Given the description of an element on the screen output the (x, y) to click on. 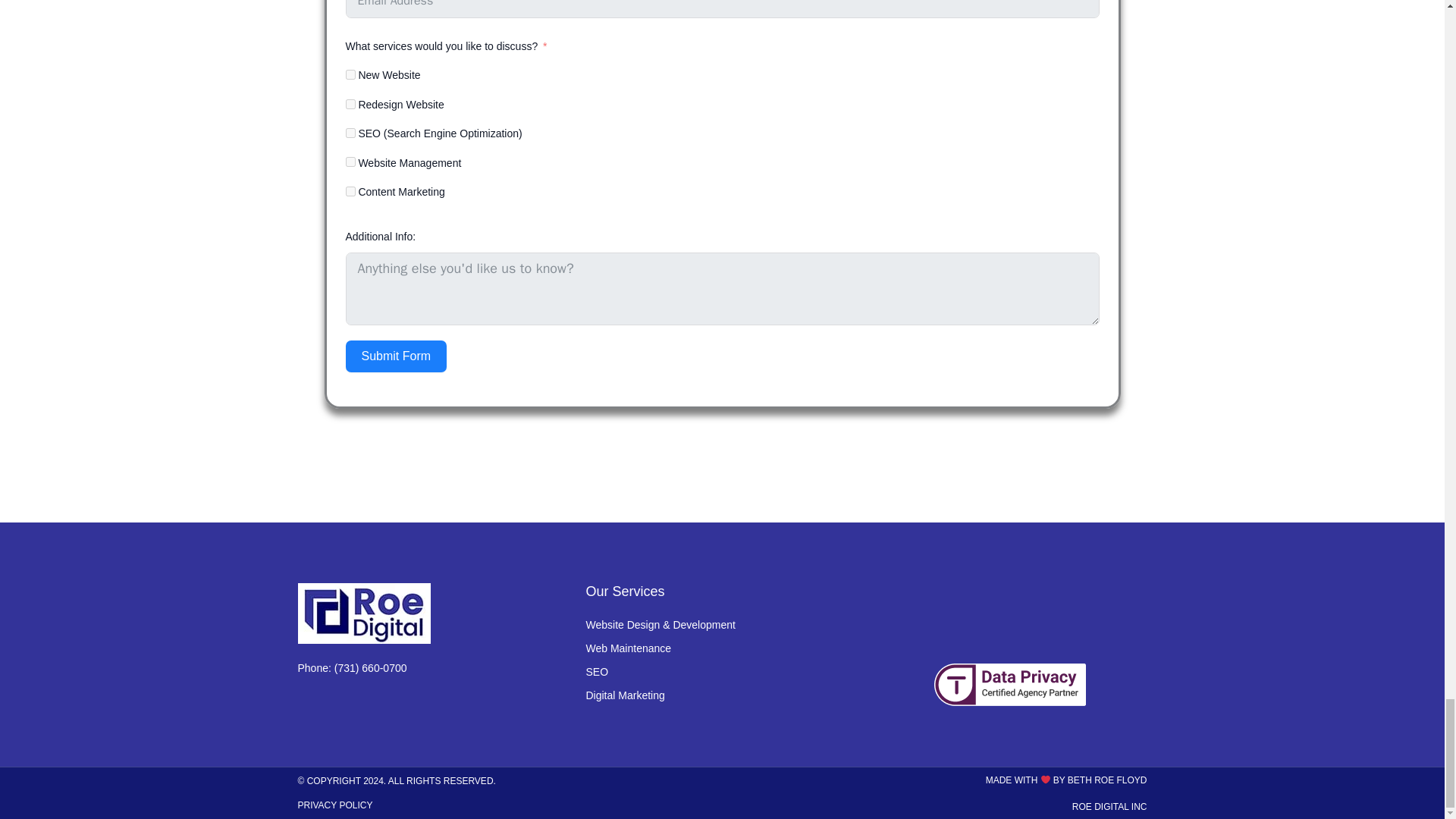
Redesign Website (350, 103)
New Website (350, 74)
Website Management (350, 162)
Content Marketing (350, 191)
